Given the description of an element on the screen output the (x, y) to click on. 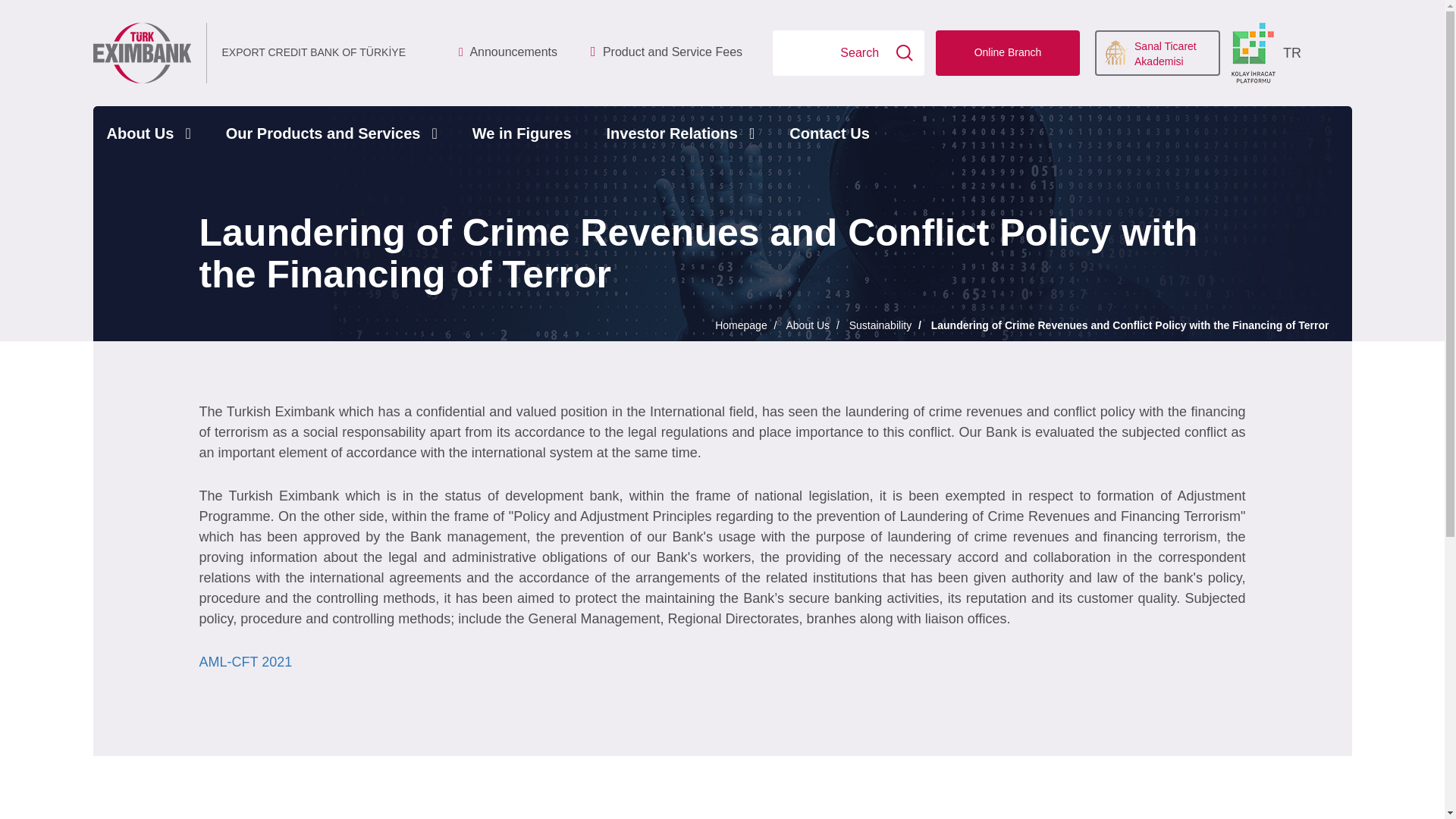
Sanal Ticaret Akademisi (1157, 53)
Our Products and Services (331, 133)
Product and Service Fees (666, 52)
Announcements (507, 52)
TR (1291, 53)
Online Branch (1008, 53)
About Us (148, 133)
